Given the description of an element on the screen output the (x, y) to click on. 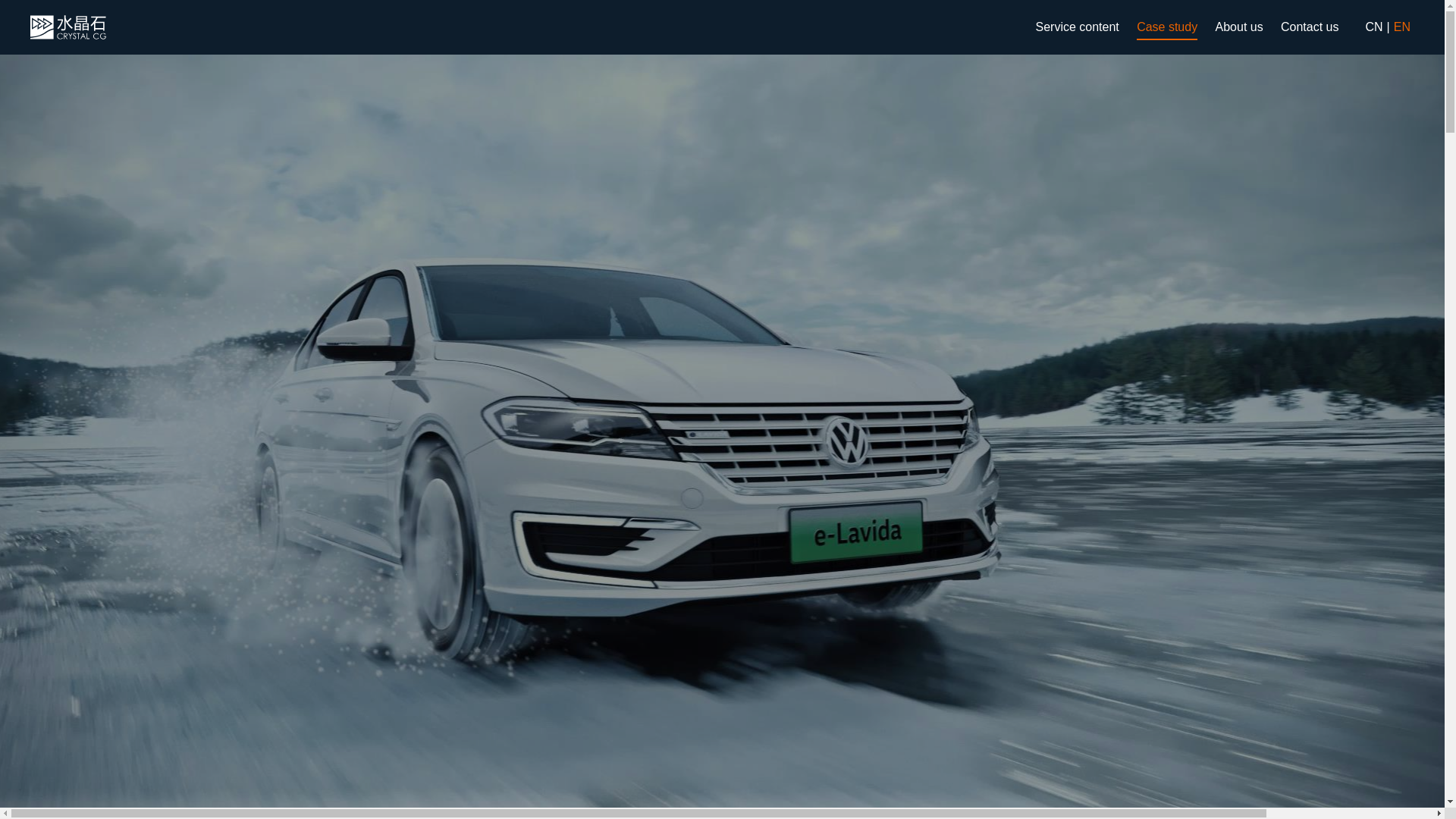
Service content (1077, 26)
Case study (1166, 26)
Contact us (1309, 26)
EN (1401, 27)
CN (1373, 27)
About us (1239, 26)
